Given the description of an element on the screen output the (x, y) to click on. 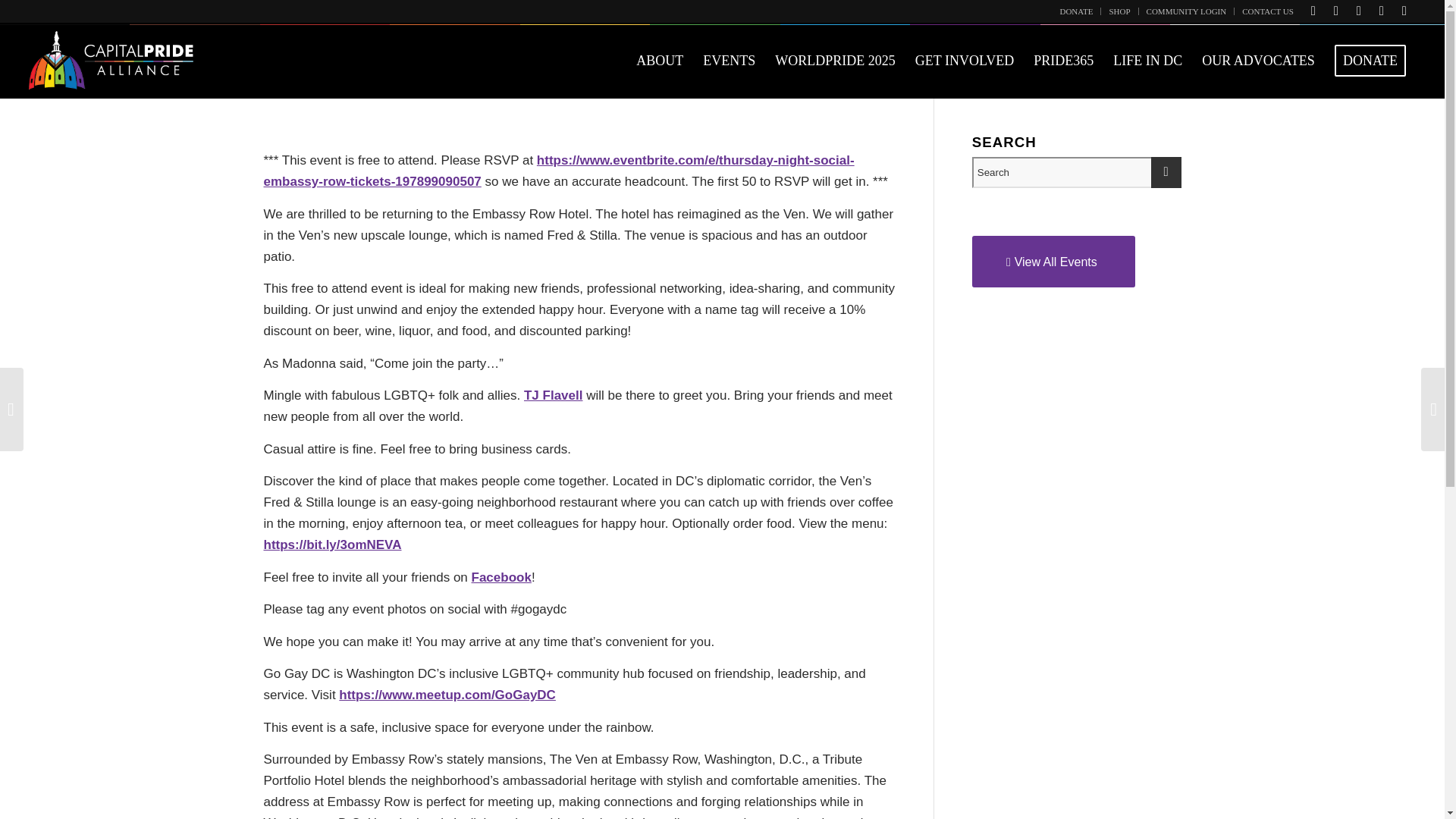
WORLDPRIDE 2025 (835, 60)
CONTACT US (1267, 11)
SHOP (1118, 11)
Twitter (1312, 11)
COMMUNITY LOGIN (1187, 11)
DONATE (1076, 11)
Youtube (1359, 11)
Facebook (1336, 11)
EVENTS (729, 60)
Instagram (1381, 11)
